Given the description of an element on the screen output the (x, y) to click on. 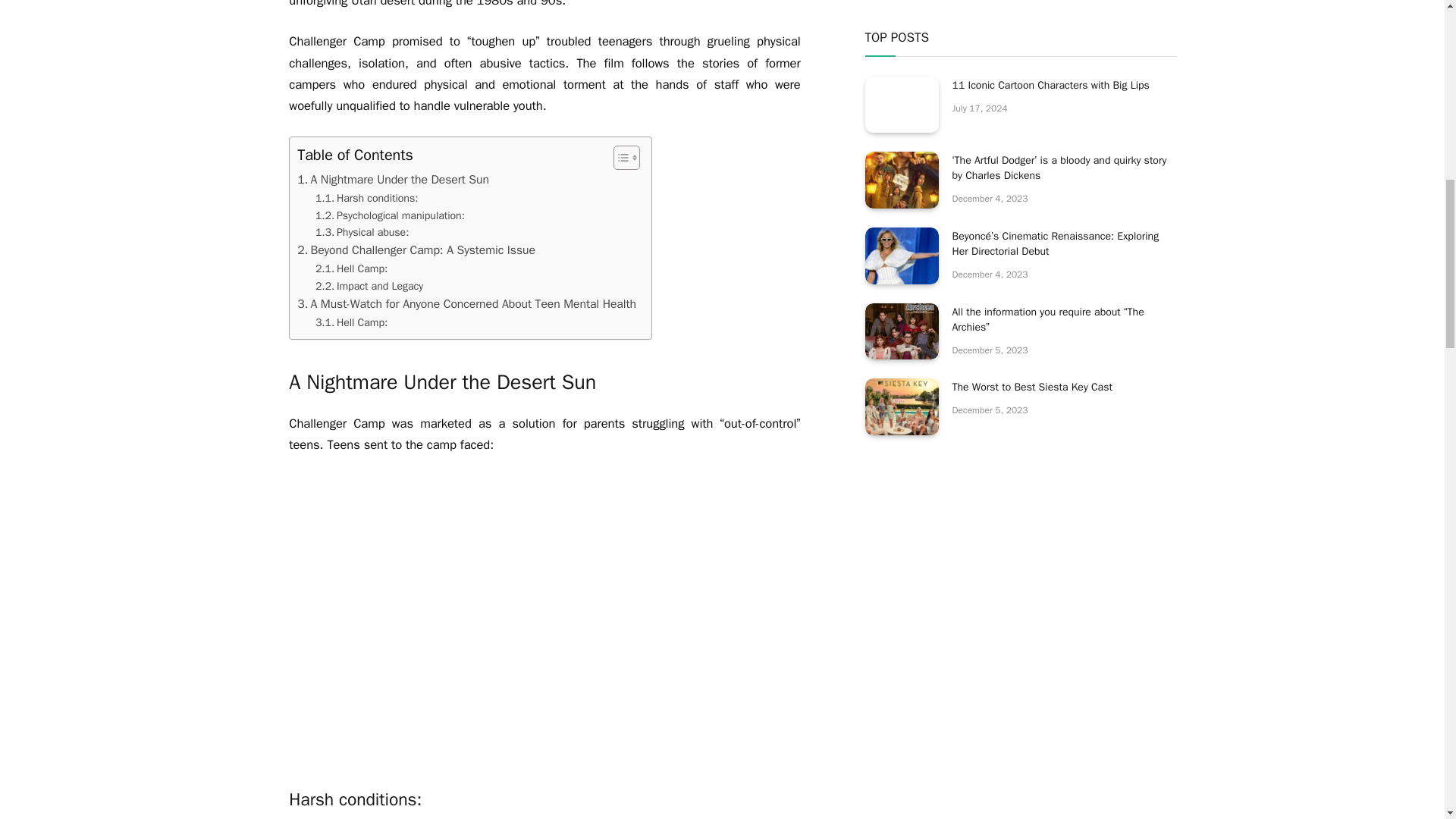
Physical abuse: (362, 231)
Harsh conditions: (366, 198)
A Nightmare Under the Desert Sun (393, 179)
Psychological manipulation: (389, 215)
